Given the description of an element on the screen output the (x, y) to click on. 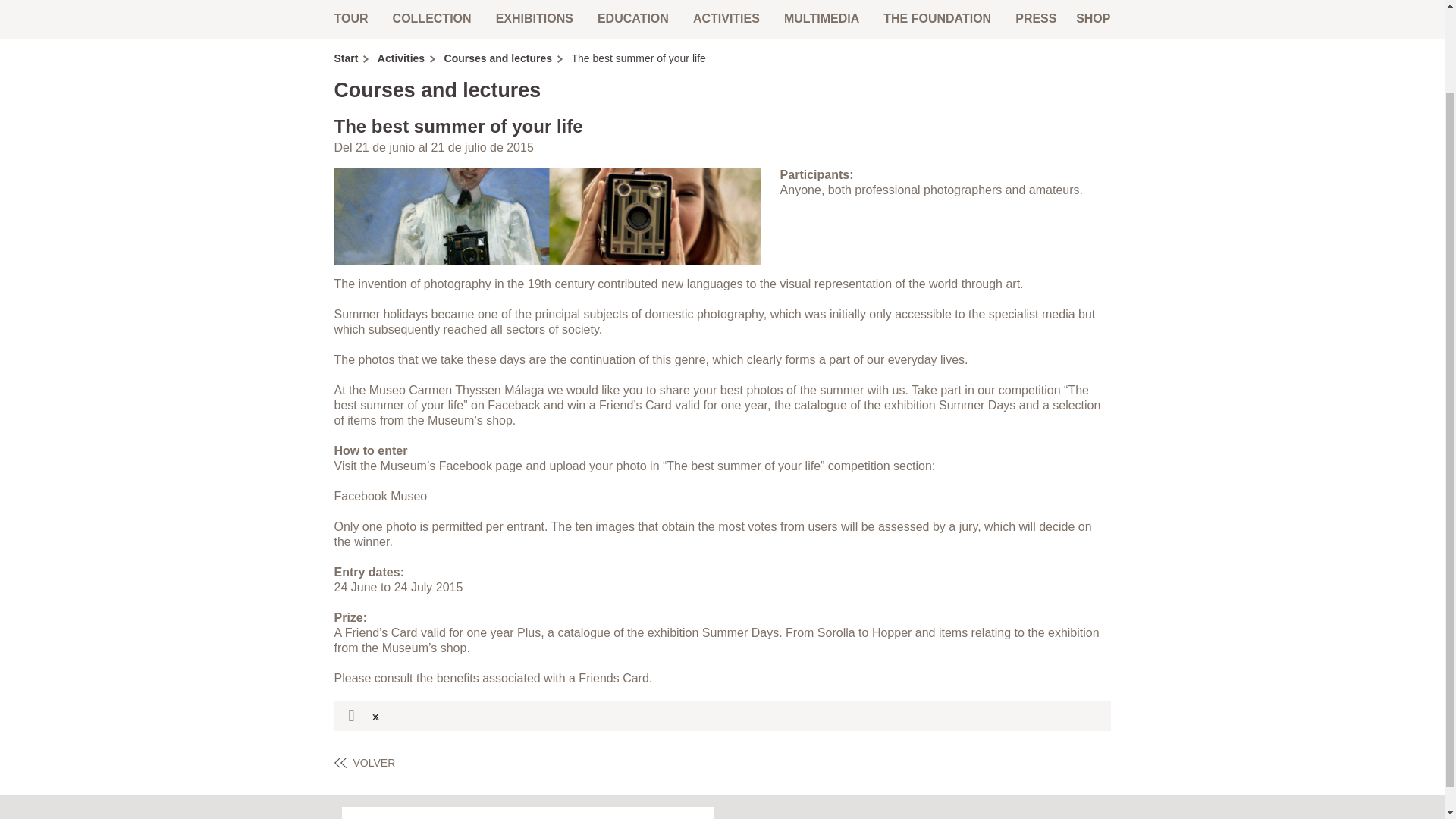
TOUR (352, 18)
EXHIBITIONS (534, 18)
EDUCATION (633, 18)
Collection (431, 18)
Tour (352, 18)
COLLECTION (431, 18)
